Given the description of an element on the screen output the (x, y) to click on. 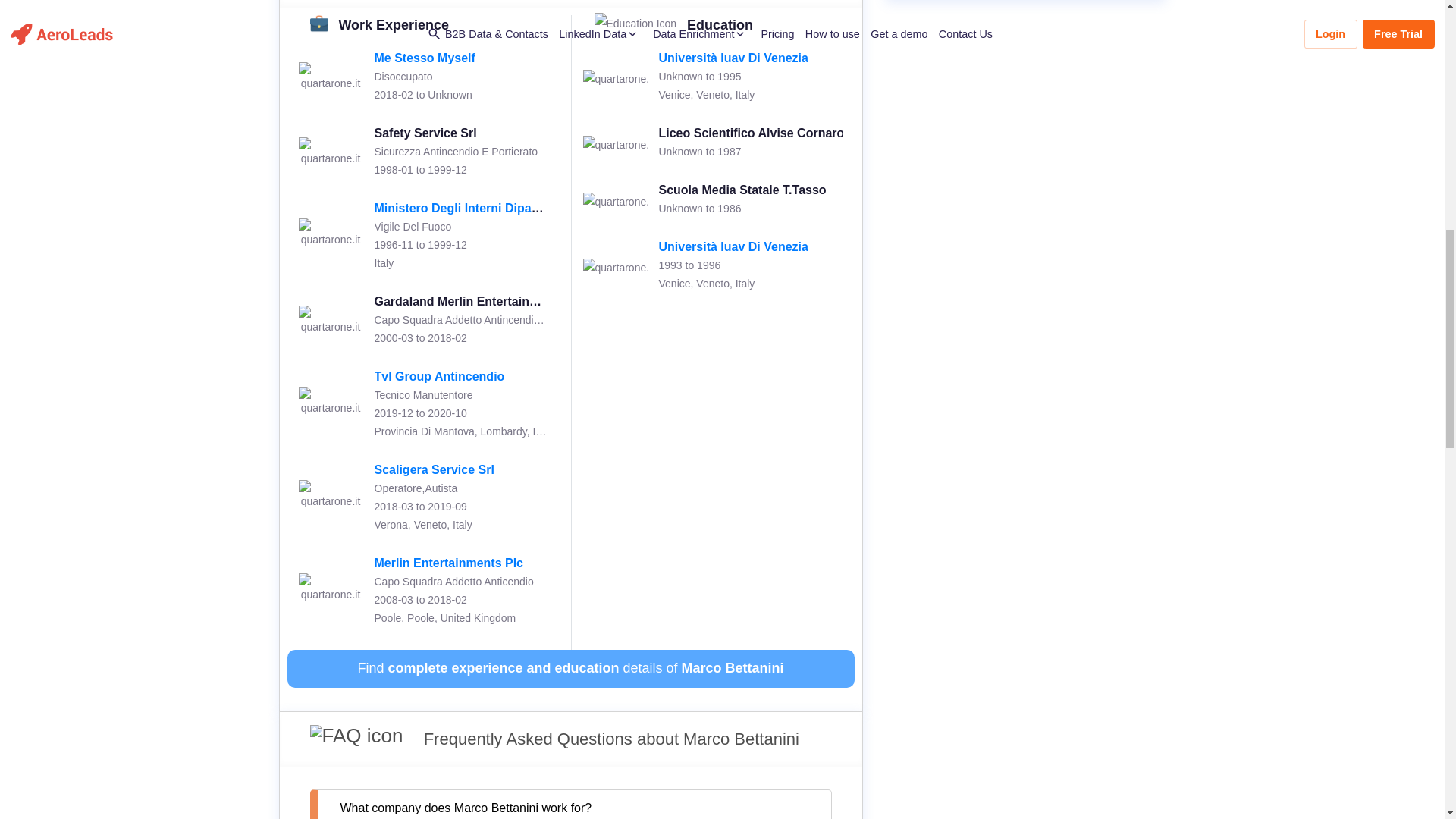
See more employees from Tvl Group Antincendio (439, 376)
See more employees from Me Stesso   Myself (425, 57)
See more employees from Scaligera Service Srl (434, 469)
See more employees from Merlin Entertainments Plc (449, 562)
Merlin Entertainments Plc (449, 562)
Tvl Group Antincendio (439, 376)
Me Stesso Myself (425, 57)
Scaligera Service Srl (434, 469)
